Given the description of an element on the screen output the (x, y) to click on. 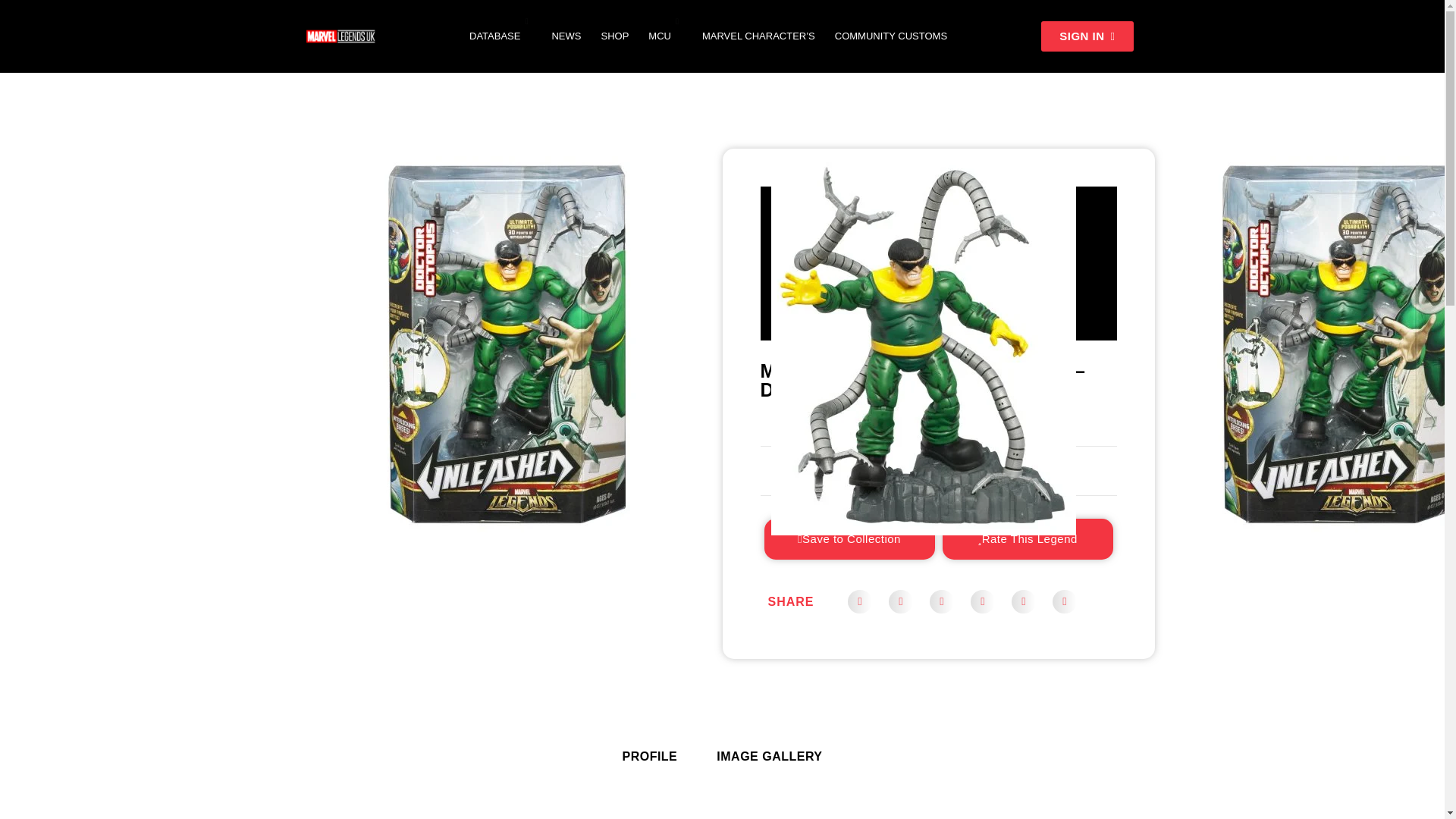
DATABASE (500, 36)
MCU (666, 36)
